Given the description of an element on the screen output the (x, y) to click on. 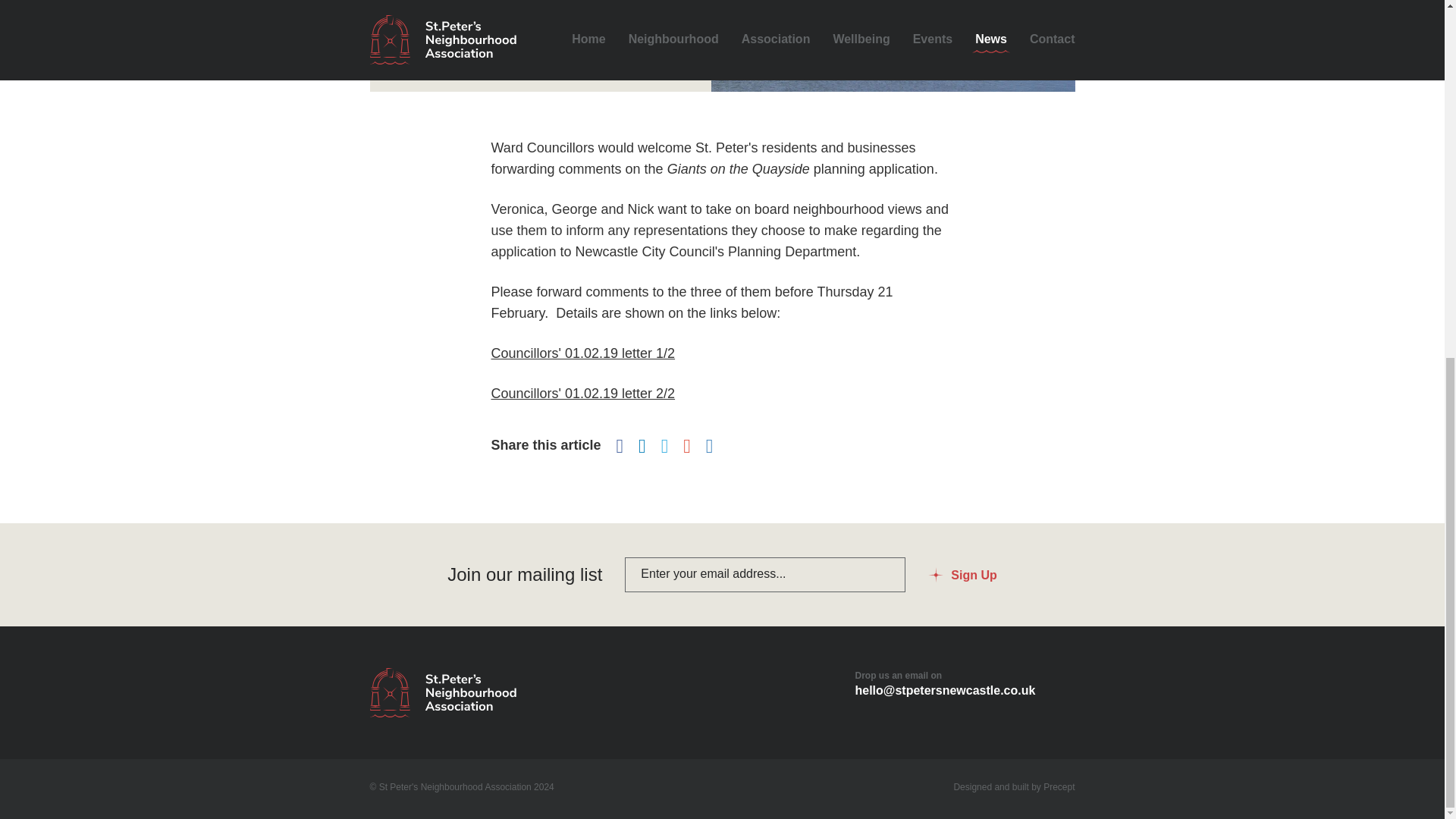
Designed and built by Precept (1013, 787)
Sign Up (961, 574)
